Given the description of an element on the screen output the (x, y) to click on. 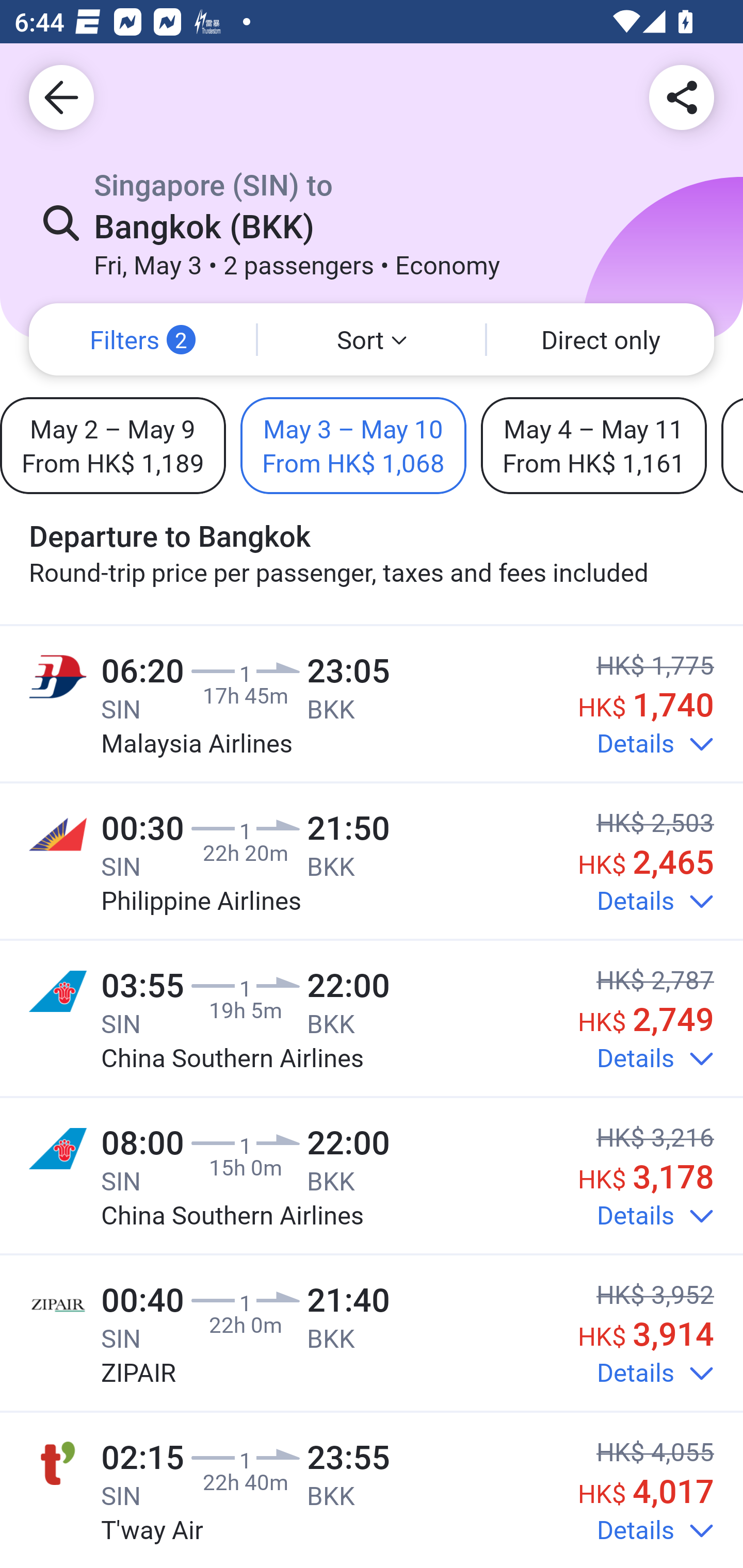
Filters 2 (141, 339)
Sort (371, 339)
Direct only (600, 339)
May 2 – May 9 From HK$ 1,189 (112, 444)
May 3 – May 10 From HK$ 1,068 (353, 444)
May 4 – May 11 From HK$ 1,161 (593, 444)
